Given the description of an element on the screen output the (x, y) to click on. 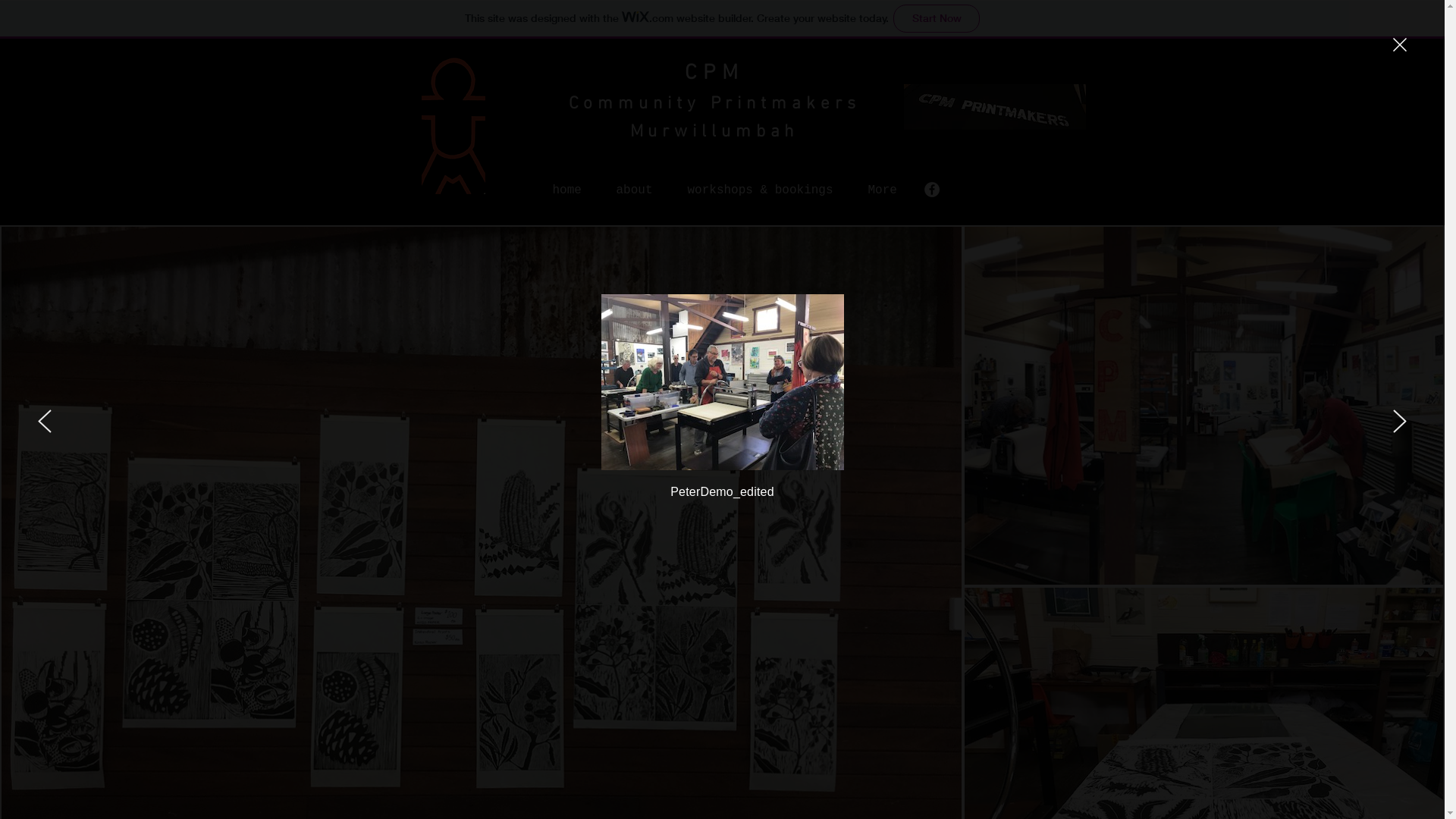
workshops & bookings Element type: text (760, 183)
about Element type: text (634, 183)
home Element type: text (567, 183)
CPM Element type: text (713, 73)
